Given the description of an element on the screen output the (x, y) to click on. 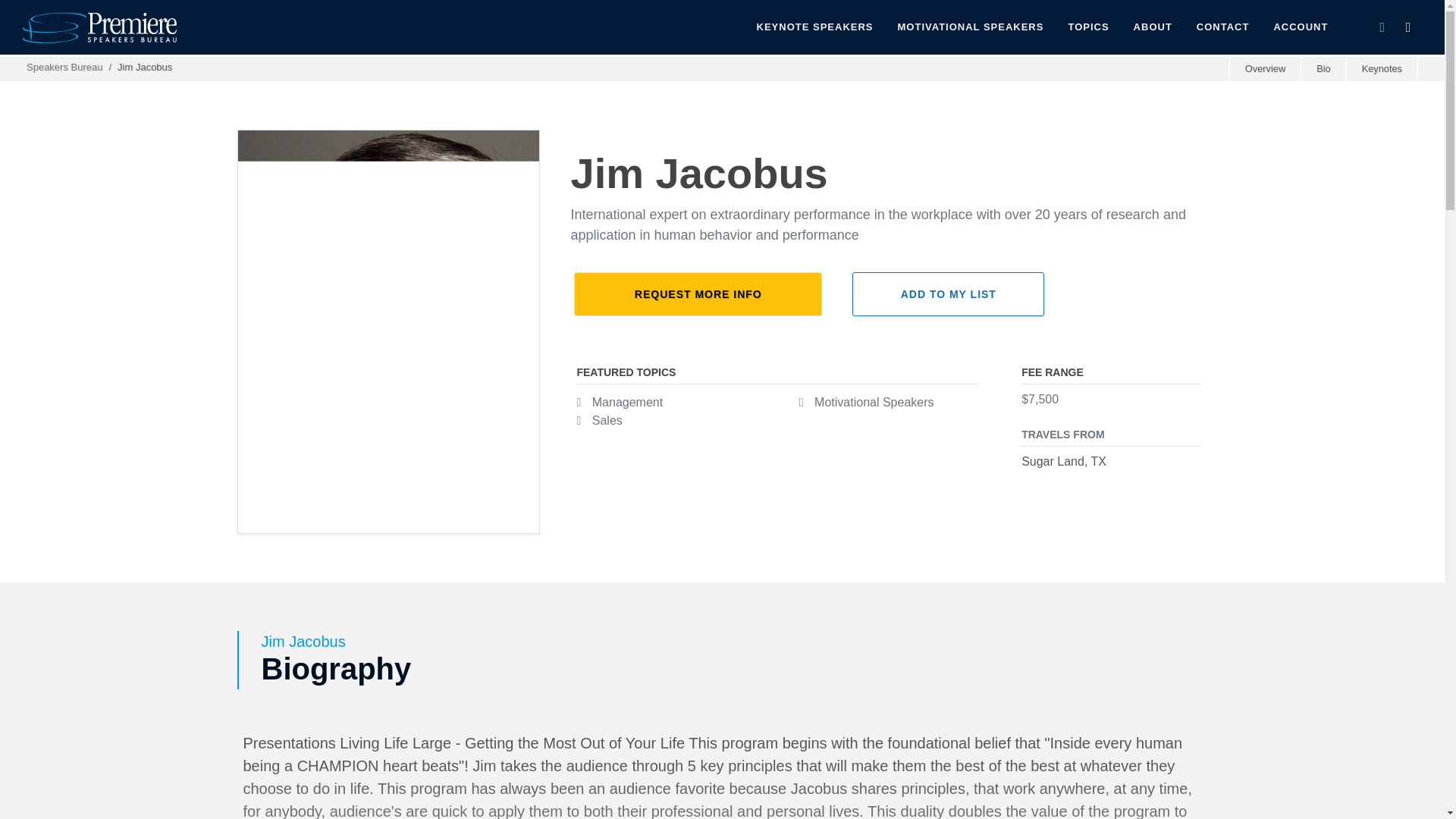
Bio (1322, 68)
ACCOUNT (1300, 27)
KEYNOTE SPEAKERS (815, 27)
REQUEST MORE INFO (697, 293)
CONTACT (1222, 27)
ABOUT (1152, 27)
TOPICS (1088, 27)
MOTIVATIONAL SPEAKERS (970, 27)
Overview (1264, 68)
Keynotes (1380, 68)
